Given the description of an element on the screen output the (x, y) to click on. 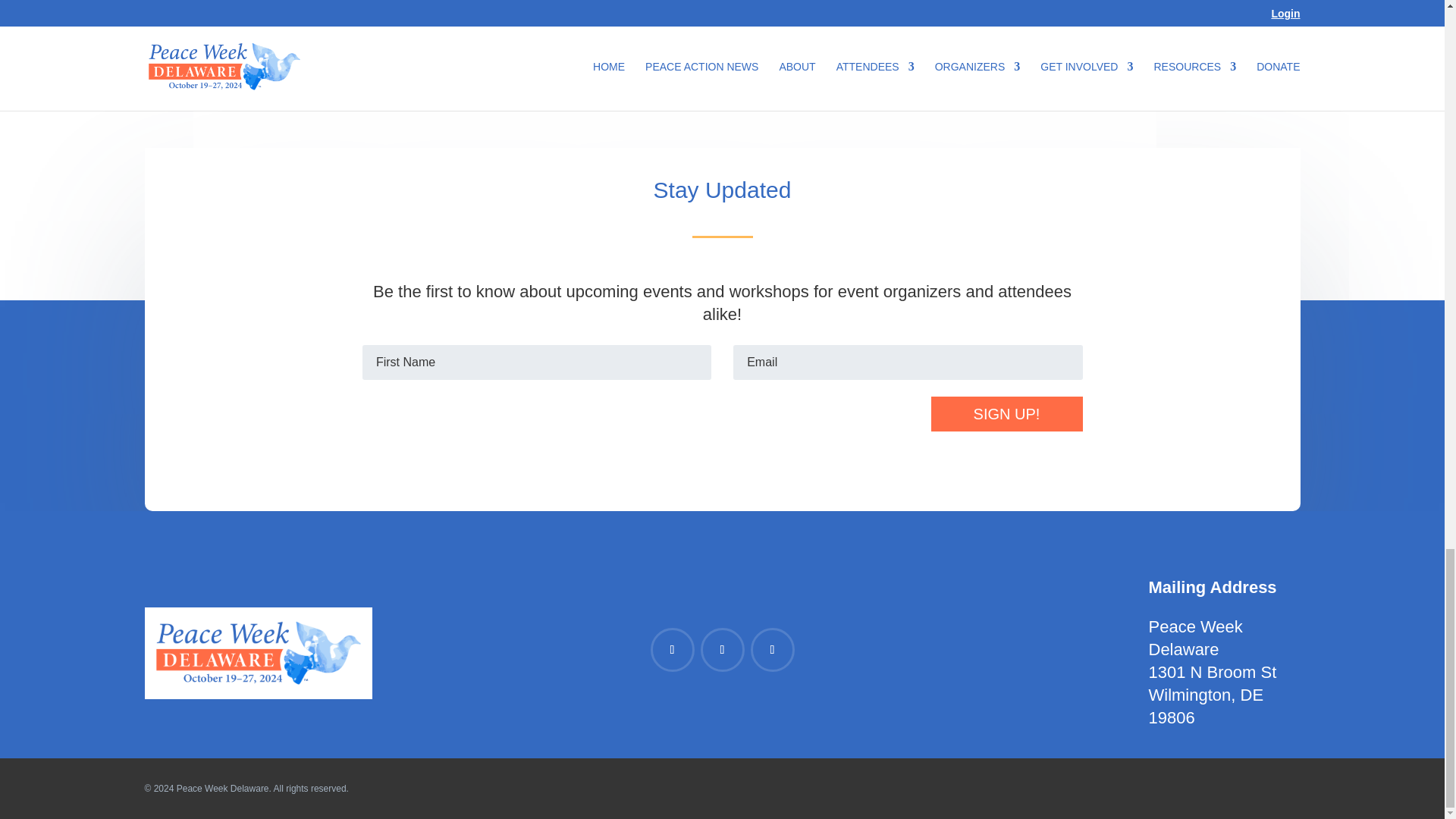
Follow on Instagram (722, 649)
Peace Week Delaware 2021 Logo (258, 653)
Follow on Facebook (672, 649)
Follow on X (772, 649)
